Given the description of an element on the screen output the (x, y) to click on. 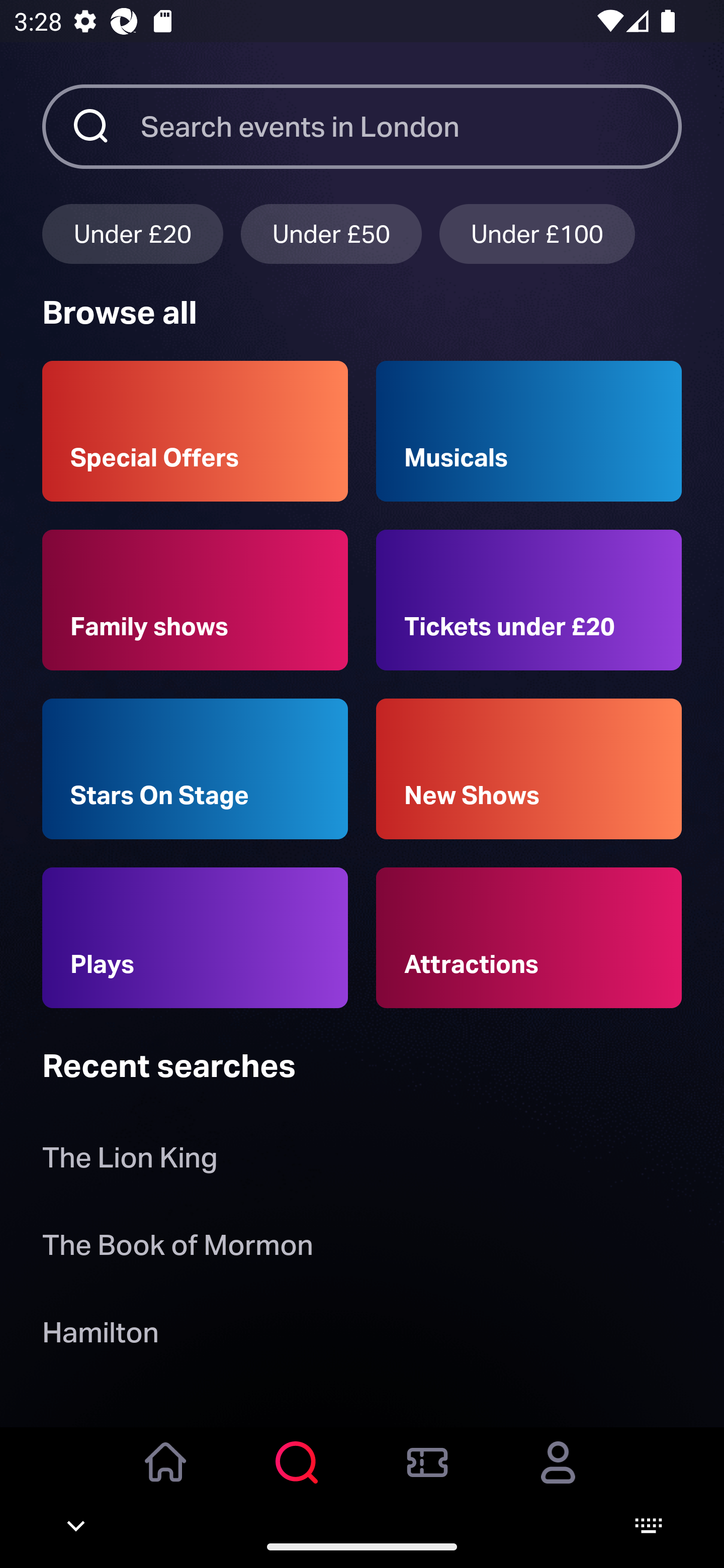
Search events in London (411, 126)
Under £20 (131, 233)
Under £50 (331, 233)
Under £100 (536, 233)
Special Offers (194, 430)
Musicals (528, 430)
Family shows (194, 600)
Tickets under £20  (528, 600)
Stars On Stage (194, 768)
New Shows (528, 768)
Plays (194, 937)
Attractions  (528, 937)
The Lion King (129, 1161)
The Book of Mormon (177, 1248)
Hamilton (99, 1335)
Home (165, 1475)
Orders (427, 1475)
Account (558, 1475)
